Given the description of an element on the screen output the (x, y) to click on. 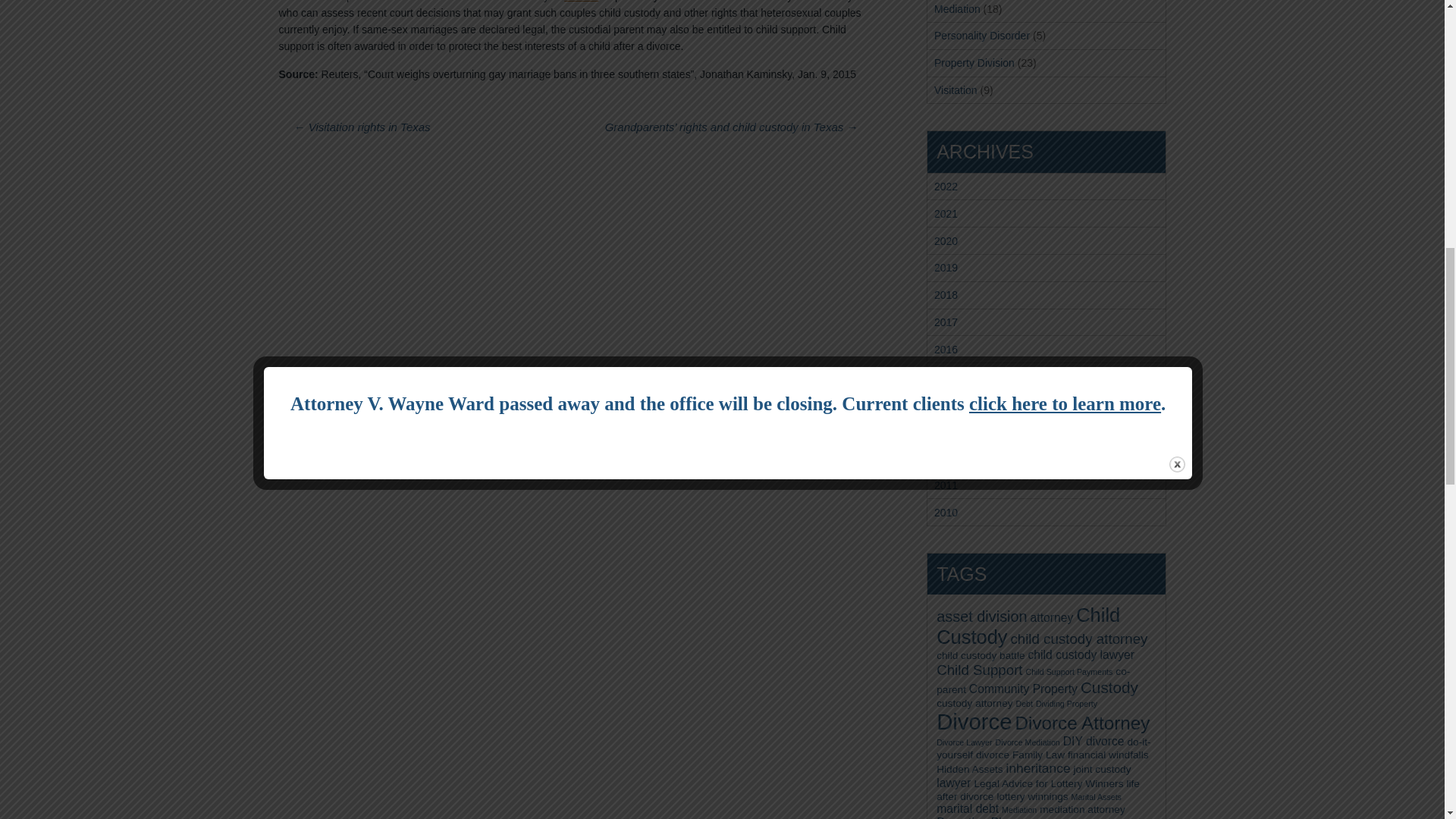
divorce (581, 1)
